Given the description of an element on the screen output the (x, y) to click on. 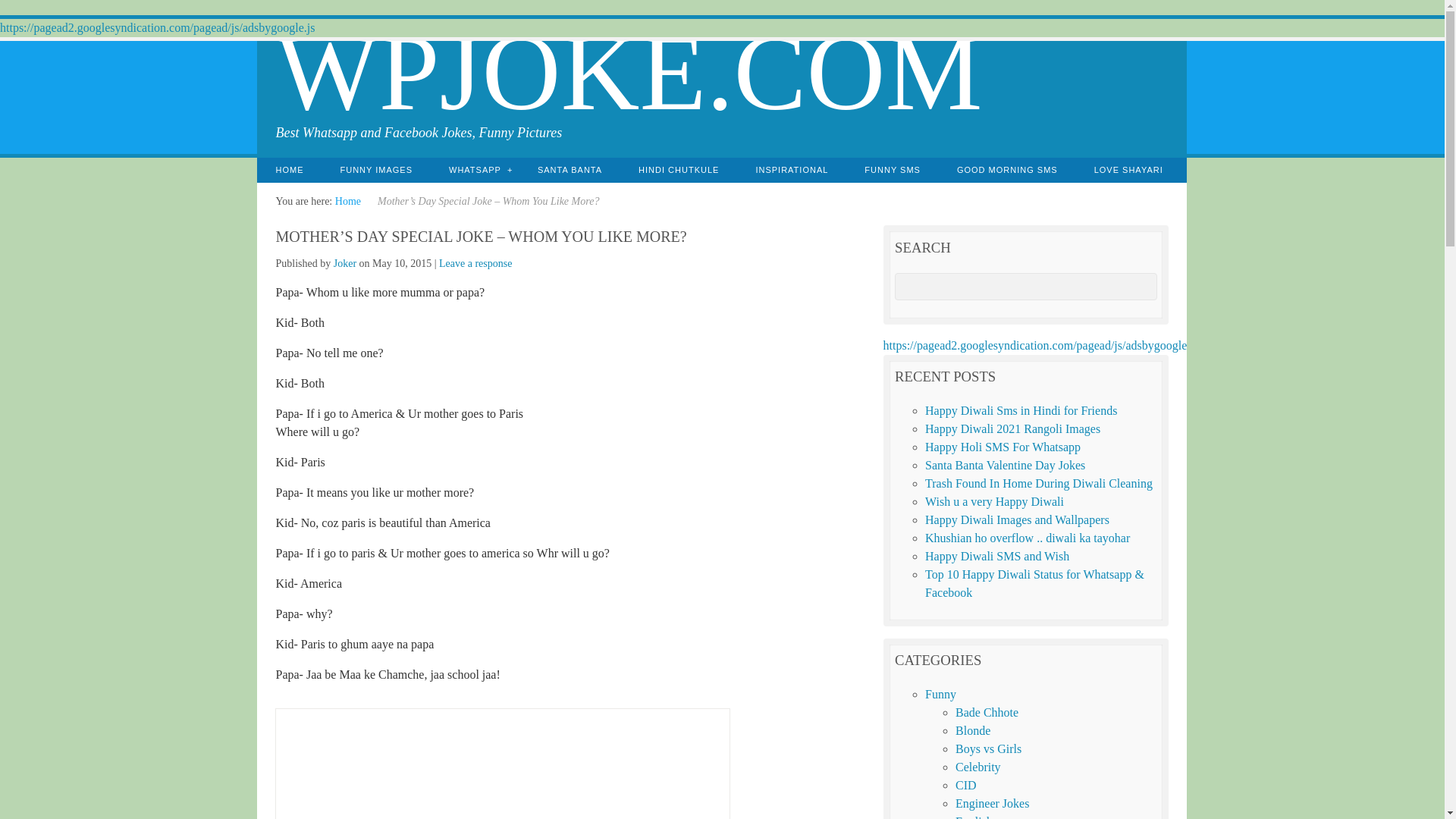
SANTA BANTA (569, 170)
Sunday, May 10th, 2015, 4:58 pm (401, 263)
Joker (344, 263)
HOME (289, 170)
HINDI CHUTKULE (678, 170)
FUNNY IMAGES (375, 170)
WPJOKE.COM (628, 72)
Home (347, 201)
Joker (344, 263)
FUNNY SMS (892, 170)
